Given the description of an element on the screen output the (x, y) to click on. 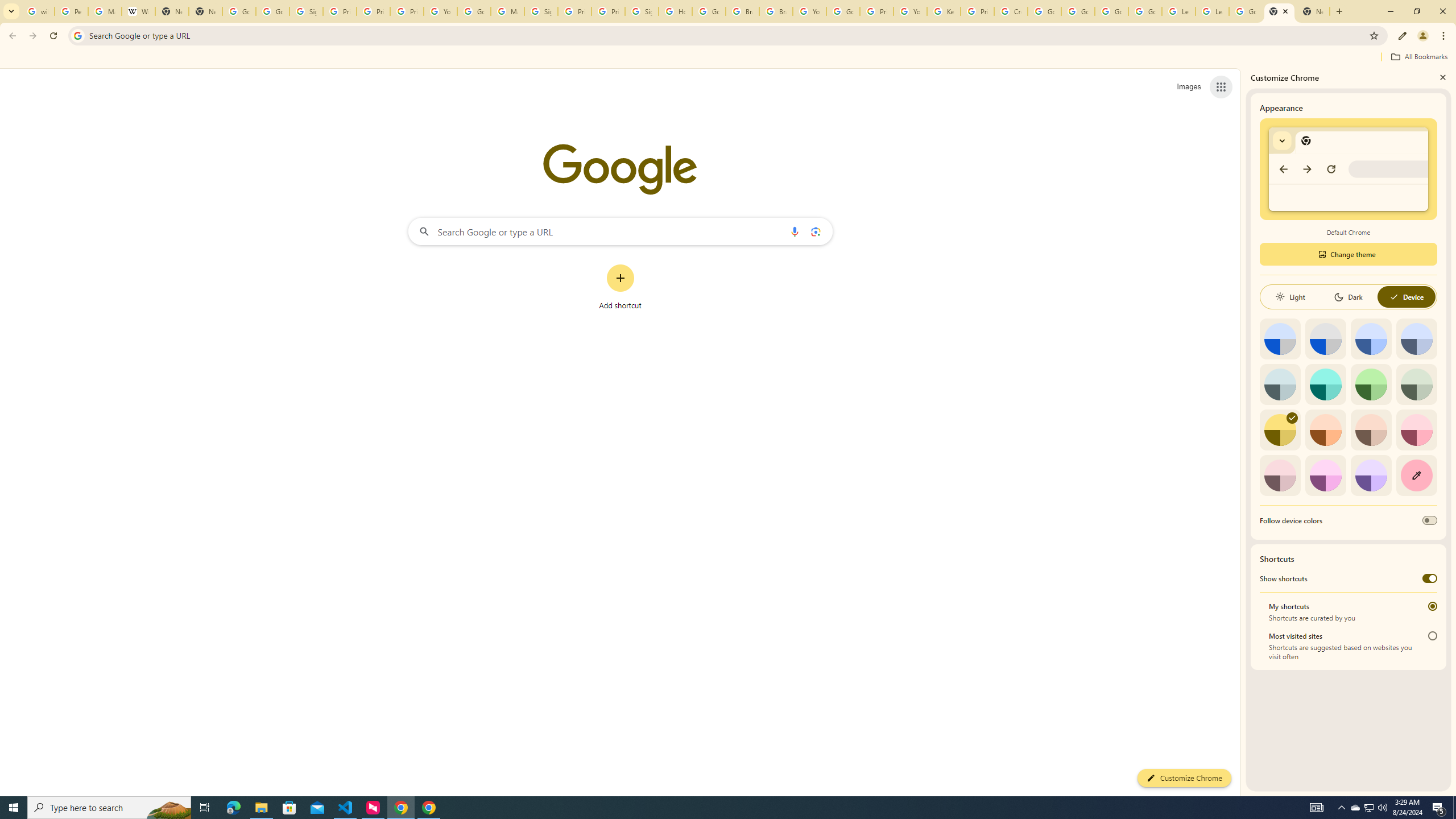
Search icon (77, 35)
Google Account Help (1077, 11)
Citron (1279, 429)
Google Account Help (1111, 11)
Side Panel Resize Handle (1242, 431)
Google Account Help (1043, 11)
Device (1406, 296)
Sign in - Google Accounts (541, 11)
Manage your Location History - Google Search Help (104, 11)
YouTube (809, 11)
Cool grey (1416, 338)
Pink (1279, 475)
